Given the description of an element on the screen output the (x, y) to click on. 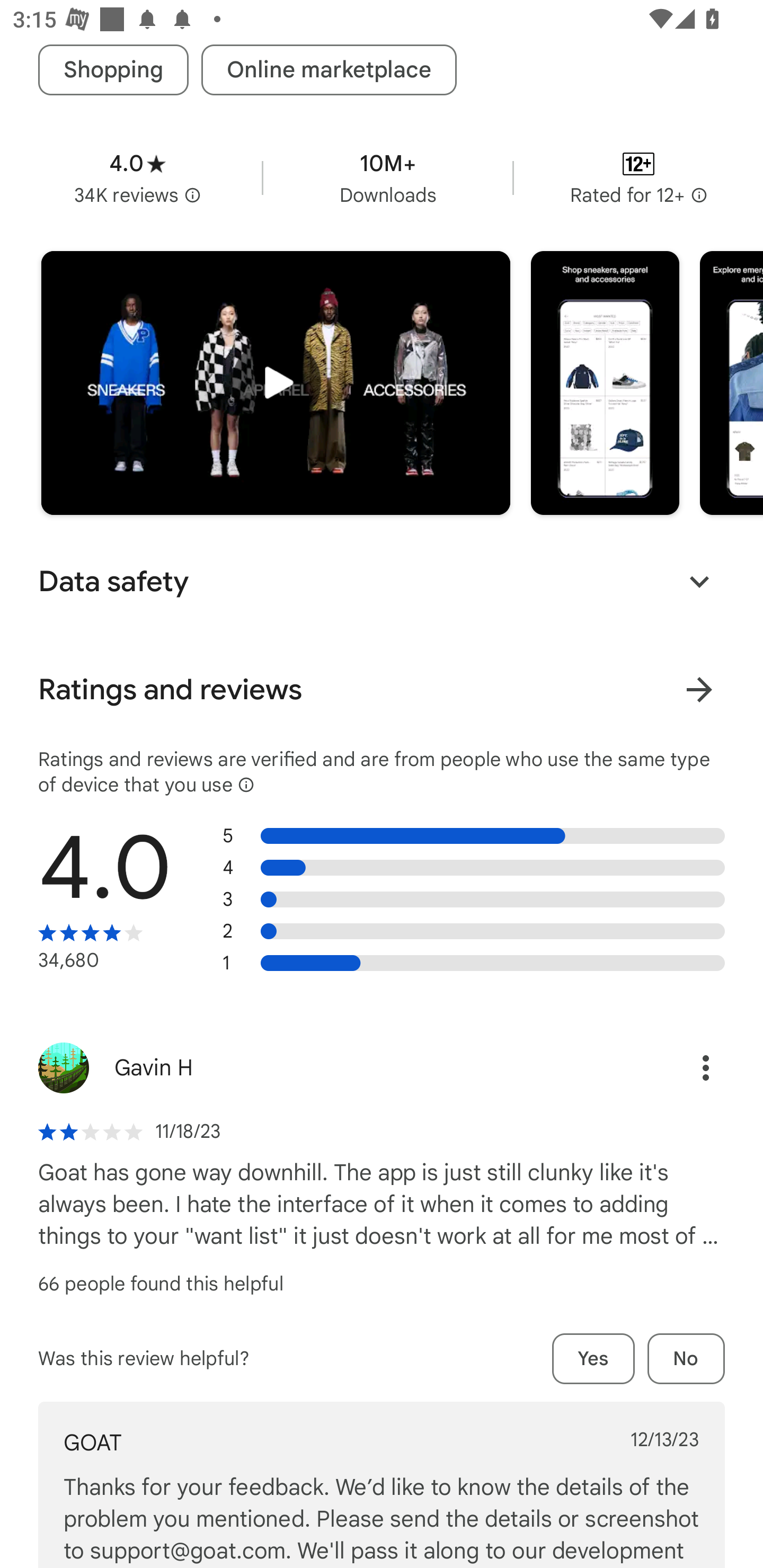
Shopping tag (113, 69)
Online marketplace tag (329, 69)
Average rating 4.0 stars in 34 thousand reviews (137, 177)
Content rating Rated for 12+ (638, 177)
Play trailer for "GOAT – Sneakers & Apparel" (275, 382)
Screenshot "1" of "8" (605, 382)
Data safety Expand (381, 581)
Expand (699, 581)
Ratings and reviews View all ratings and reviews (381, 688)
View all ratings and reviews (699, 689)
Options (686, 1067)
Yes (593, 1358)
No (685, 1358)
